Given the description of an element on the screen output the (x, y) to click on. 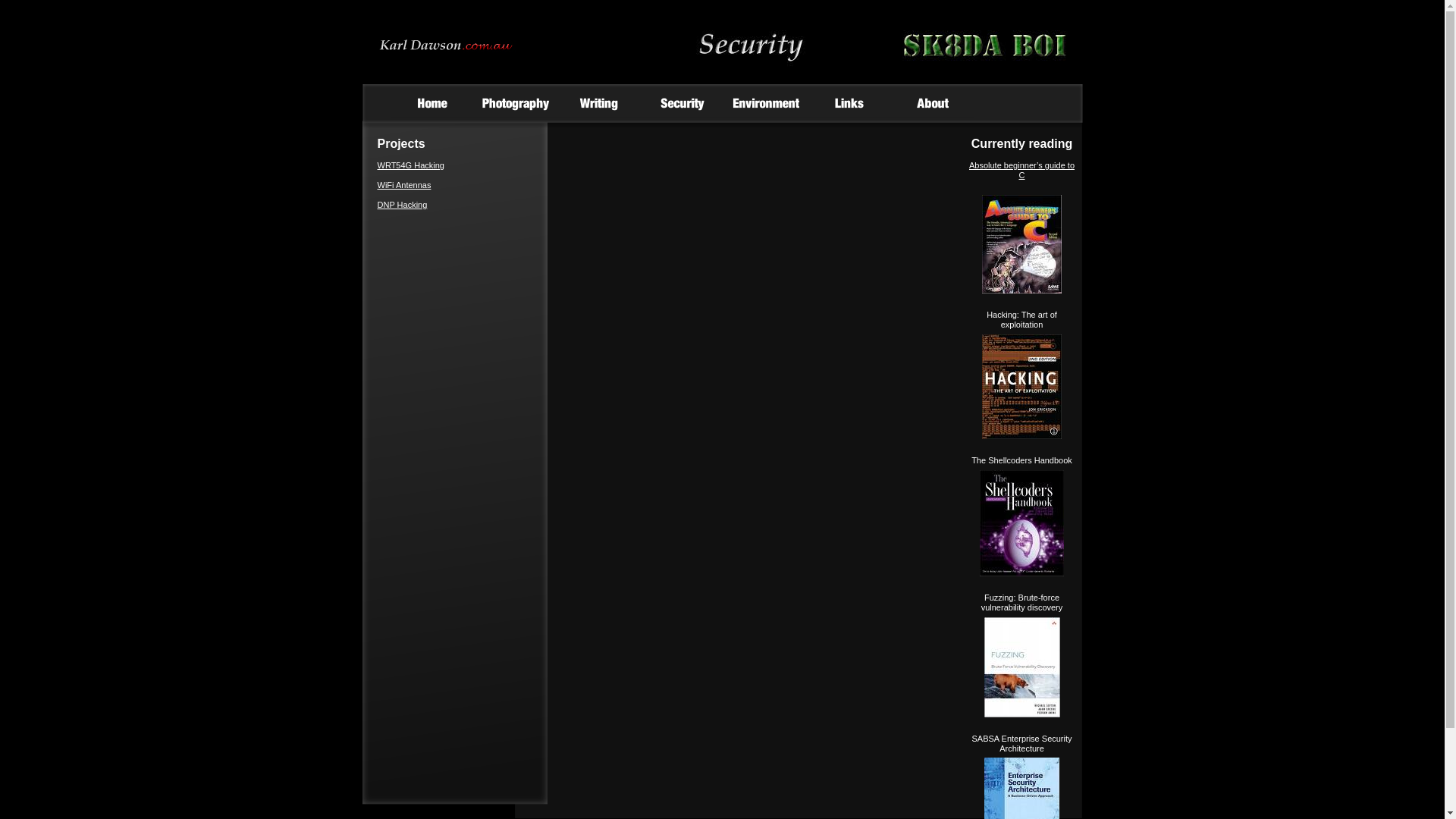
DNP Hacking Element type: text (402, 204)
WRT54G Hacking Element type: text (410, 164)
WiFi Antennas Element type: text (404, 184)
